Given the description of an element on the screen output the (x, y) to click on. 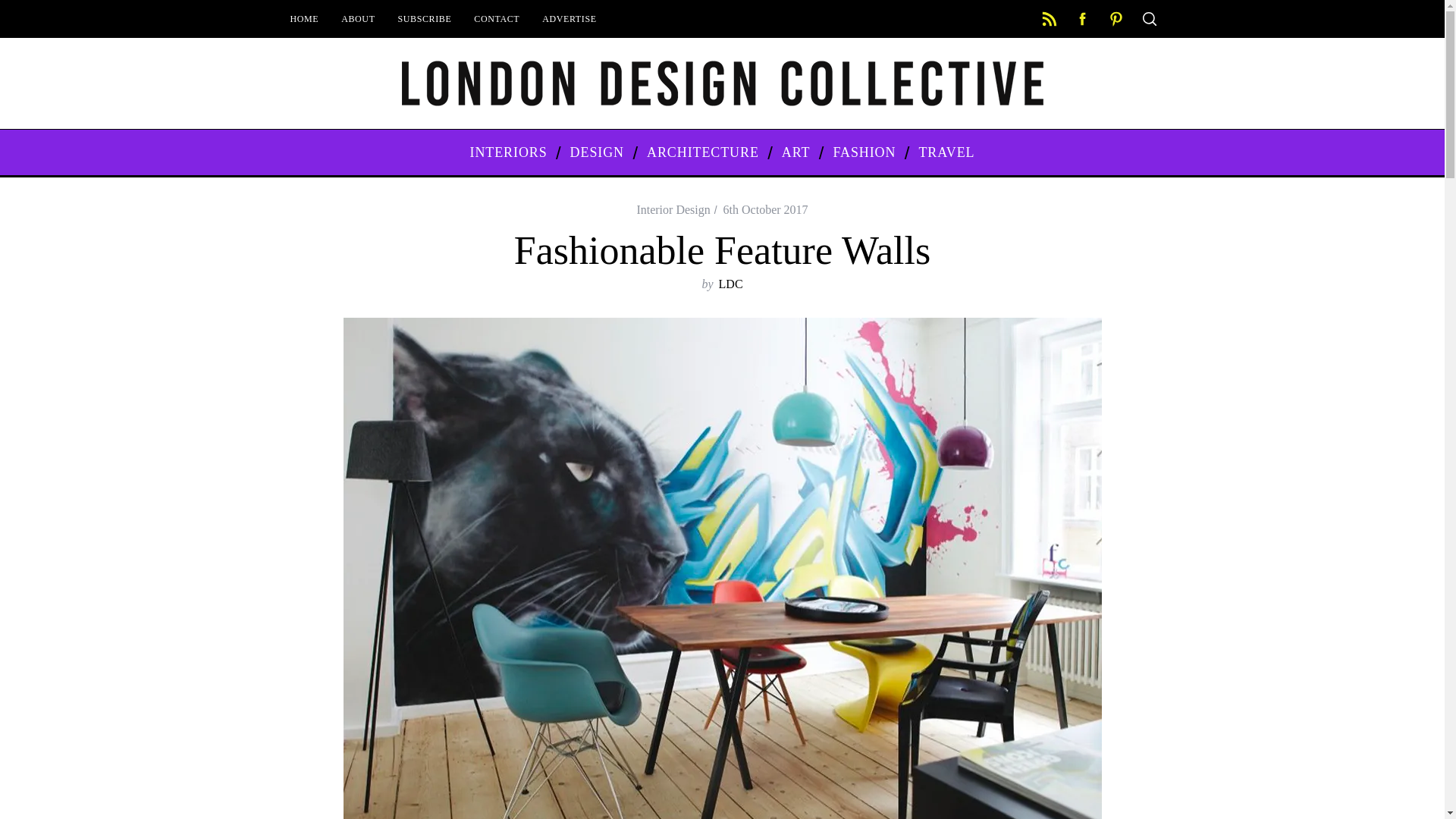
ABOUT (357, 18)
CONTACT (497, 18)
SUBSCRIBE (425, 18)
HOME (304, 18)
ADVERTISE (569, 18)
